Given the description of an element on the screen output the (x, y) to click on. 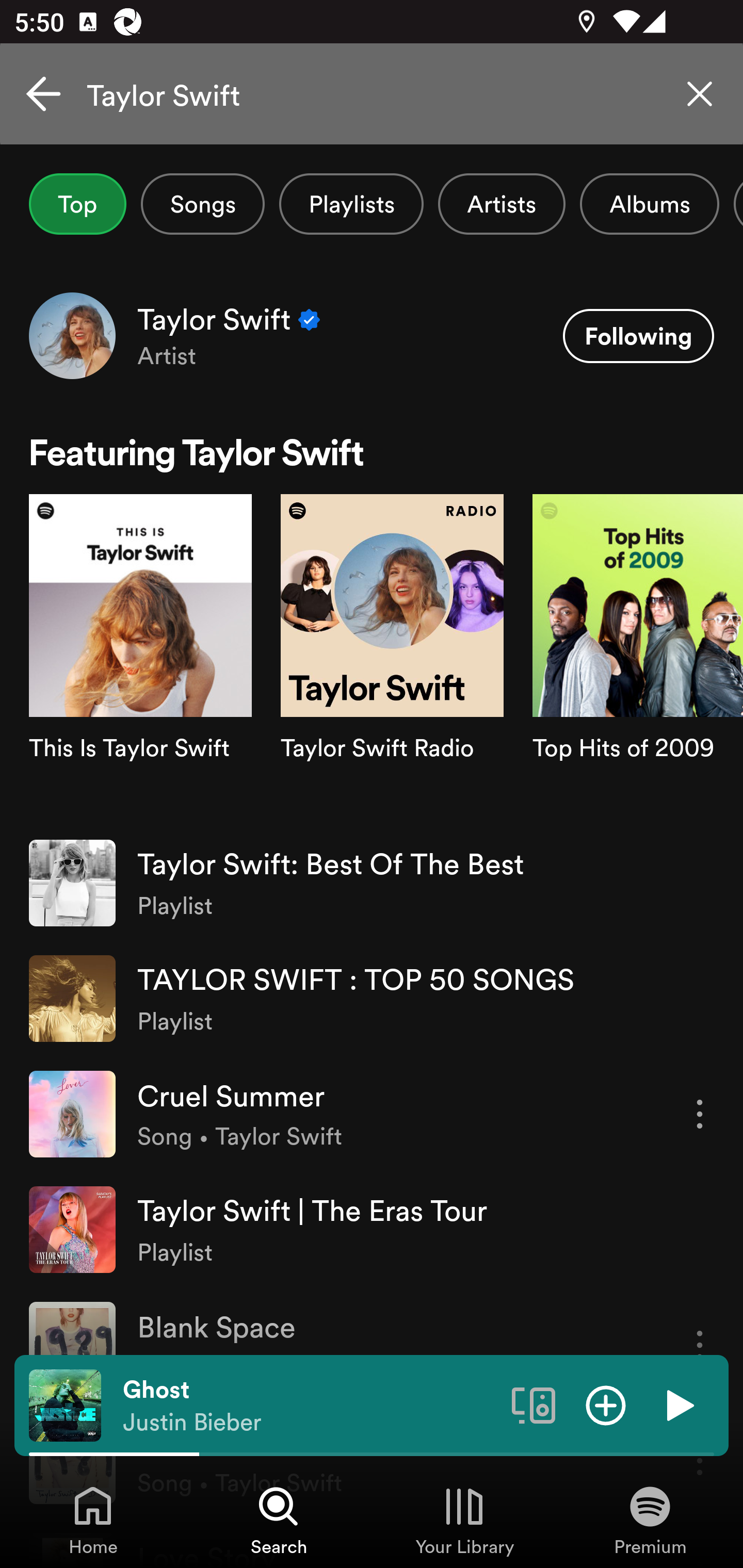
Taylor Swift (371, 93)
Cancel (43, 93)
Clear search query (699, 93)
Top (77, 203)
Songs (202, 203)
Playlists (351, 203)
Artists (501, 203)
Albums (649, 203)
Taylor Swift Verified Artist Following Unfollow (371, 335)
Following Unfollow (638, 335)
Search card image This Is Taylor Swift (139, 658)
Search card image Taylor Swift Radio (391, 658)
Search card image Top Hits of 2009 (637, 658)
Taylor Swift: Best Of The Best Playlist (371, 882)
TAYLOR SWIFT : TOP 50 SONGS Playlist (371, 998)
More options for song Cruel Summer (699, 1113)
Taylor Swift | The Eras Tour Playlist (371, 1229)
Ghost Justin Bieber (309, 1405)
The cover art of the currently playing track (64, 1404)
Connect to a device. Opens the devices menu (533, 1404)
Add item (605, 1404)
Play (677, 1404)
Home, Tab 1 of 4 Home Home (92, 1519)
Search, Tab 2 of 4 Search Search (278, 1519)
Your Library, Tab 3 of 4 Your Library Your Library (464, 1519)
Premium, Tab 4 of 4 Premium Premium (650, 1519)
